Given the description of an element on the screen output the (x, y) to click on. 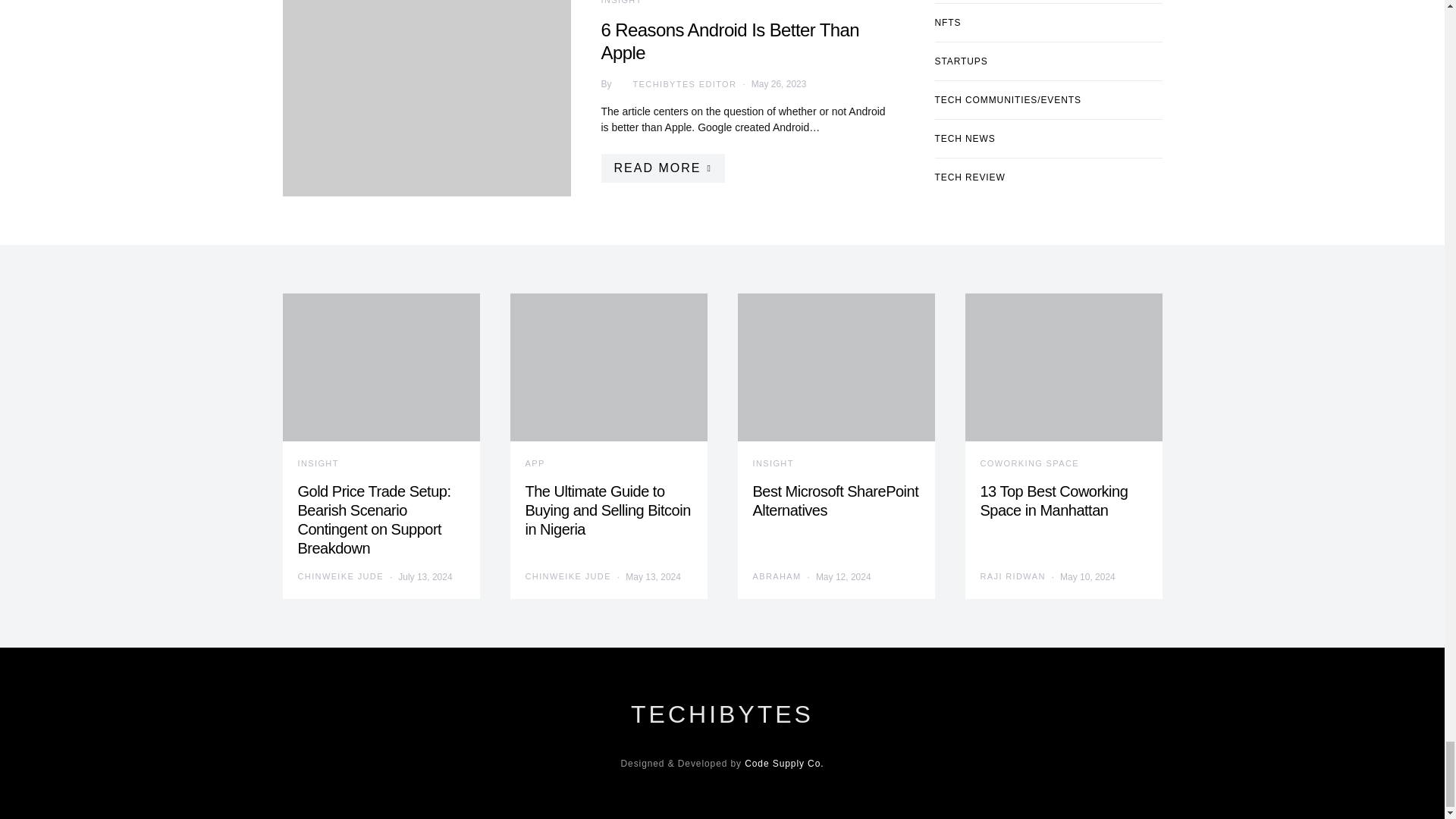
6 Reasons Android Is Better Than Apple 10 (426, 98)
